Given the description of an element on the screen output the (x, y) to click on. 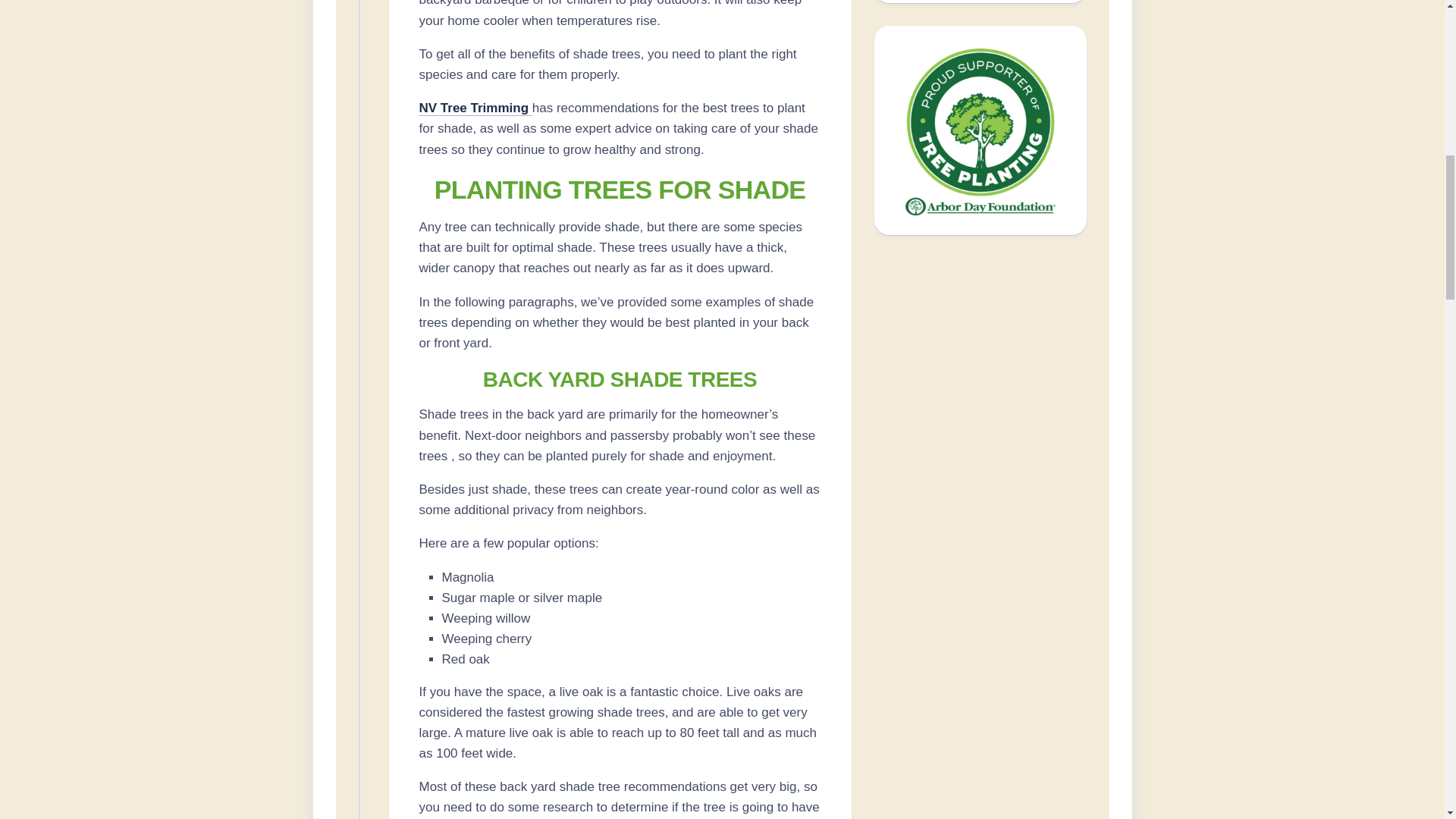
NV Tree Trimming (475, 107)
